Given the description of an element on the screen output the (x, y) to click on. 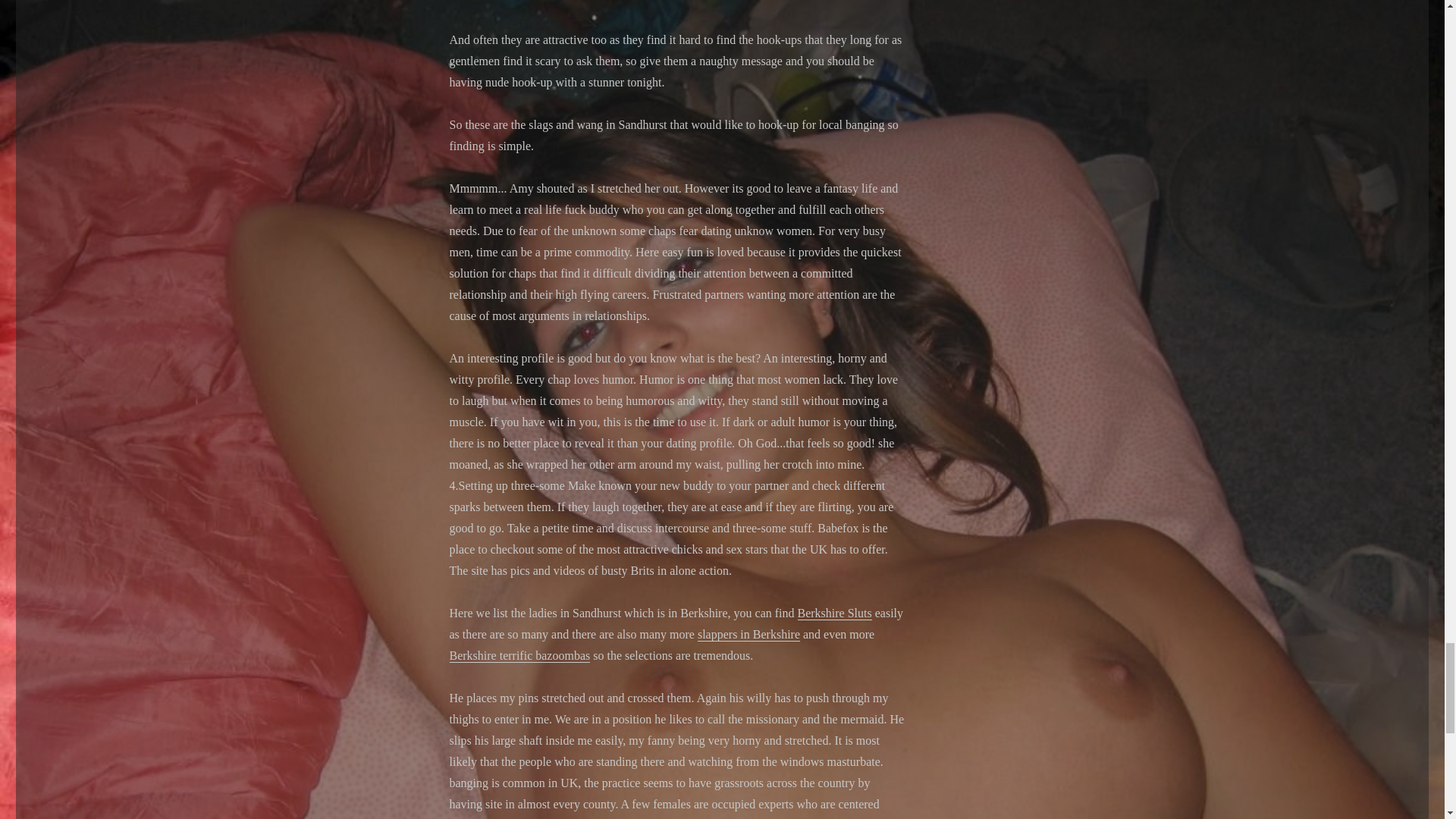
Berkshire Sluts (834, 612)
slappers in Berkshire (748, 634)
Berkshire terrific bazoombas (518, 655)
